Given the description of an element on the screen output the (x, y) to click on. 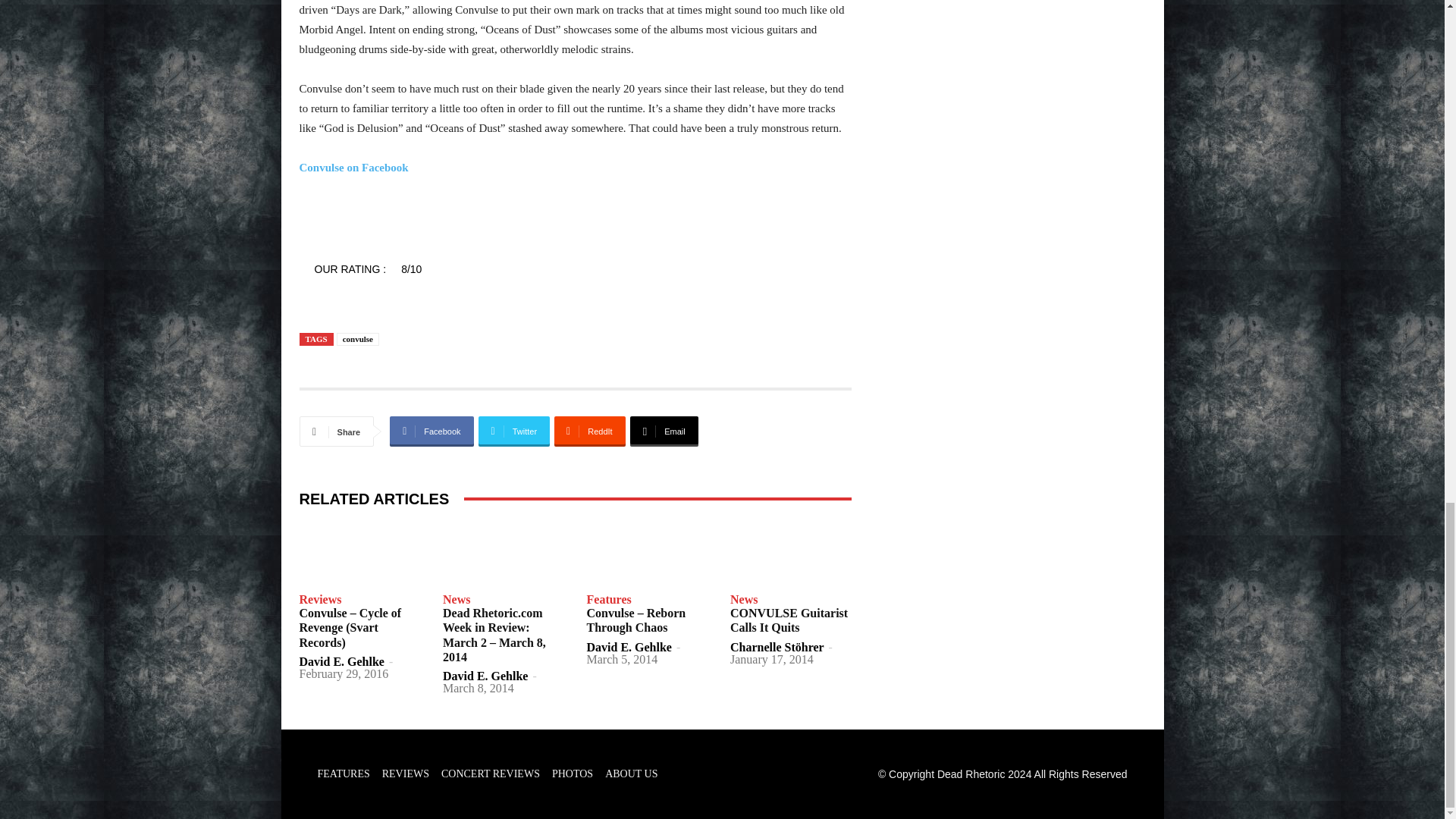
Twitter (514, 431)
David E. Gehlke (628, 646)
convulse (357, 338)
Email (664, 431)
Twitter (514, 431)
Features (608, 599)
David E. Gehlke (341, 661)
Convulse on Facebook (352, 167)
David E. Gehlke (484, 675)
Email (664, 431)
ReddIt (590, 431)
Reviews (319, 599)
ReddIt (590, 431)
Facebook (431, 431)
Facebook (431, 431)
